Given the description of an element on the screen output the (x, y) to click on. 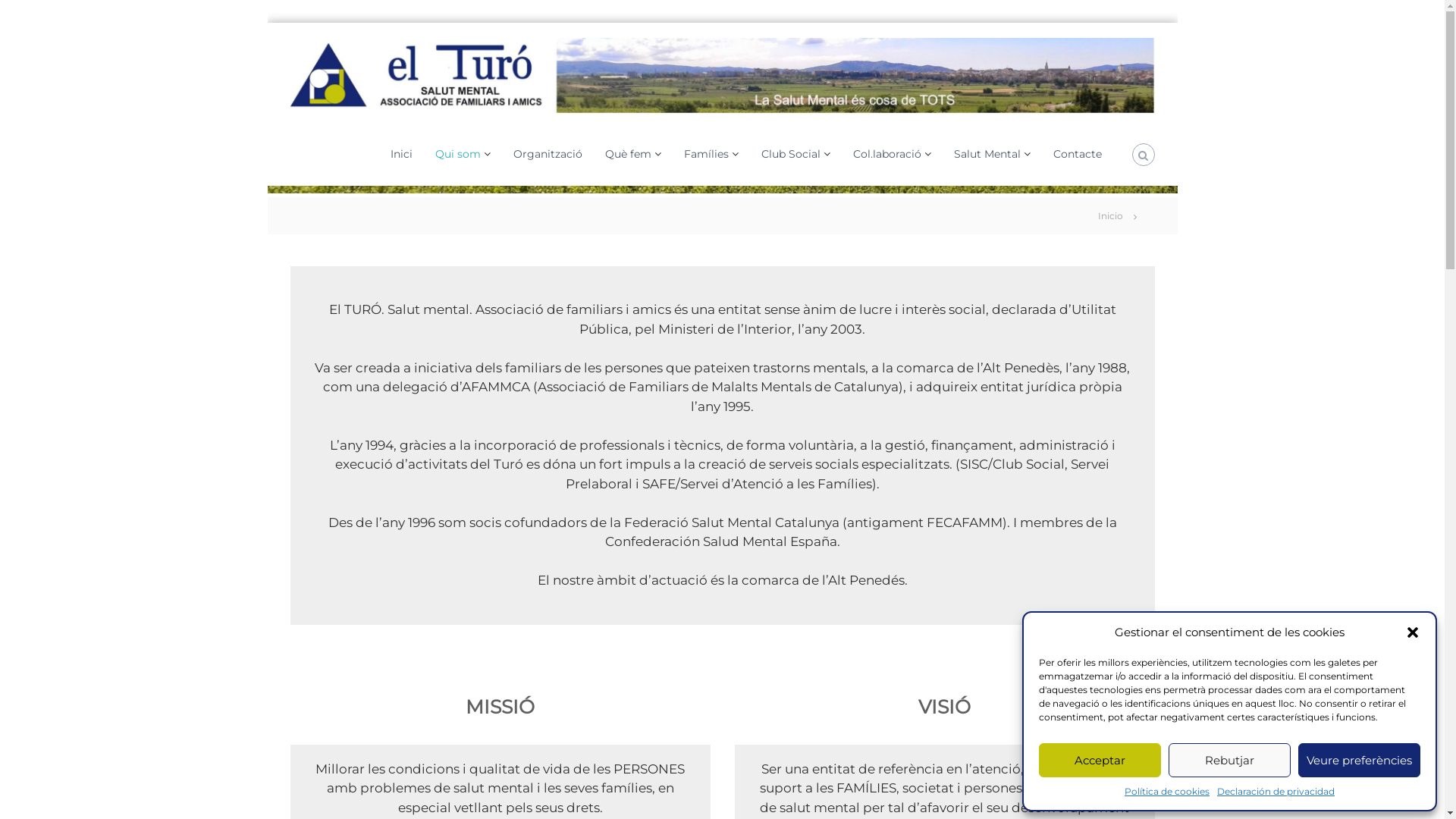
Acceptar Element type: text (1099, 760)
Contacte Element type: text (1076, 153)
Club Social Element type: text (790, 153)
Rebutjar Element type: text (1229, 760)
Saltar al contenido Element type: text (266, 21)
Inici Element type: text (400, 153)
Salut Mental Element type: text (986, 153)
Qui som Element type: text (457, 153)
Inicio Element type: text (1110, 215)
